Given the description of an element on the screen output the (x, y) to click on. 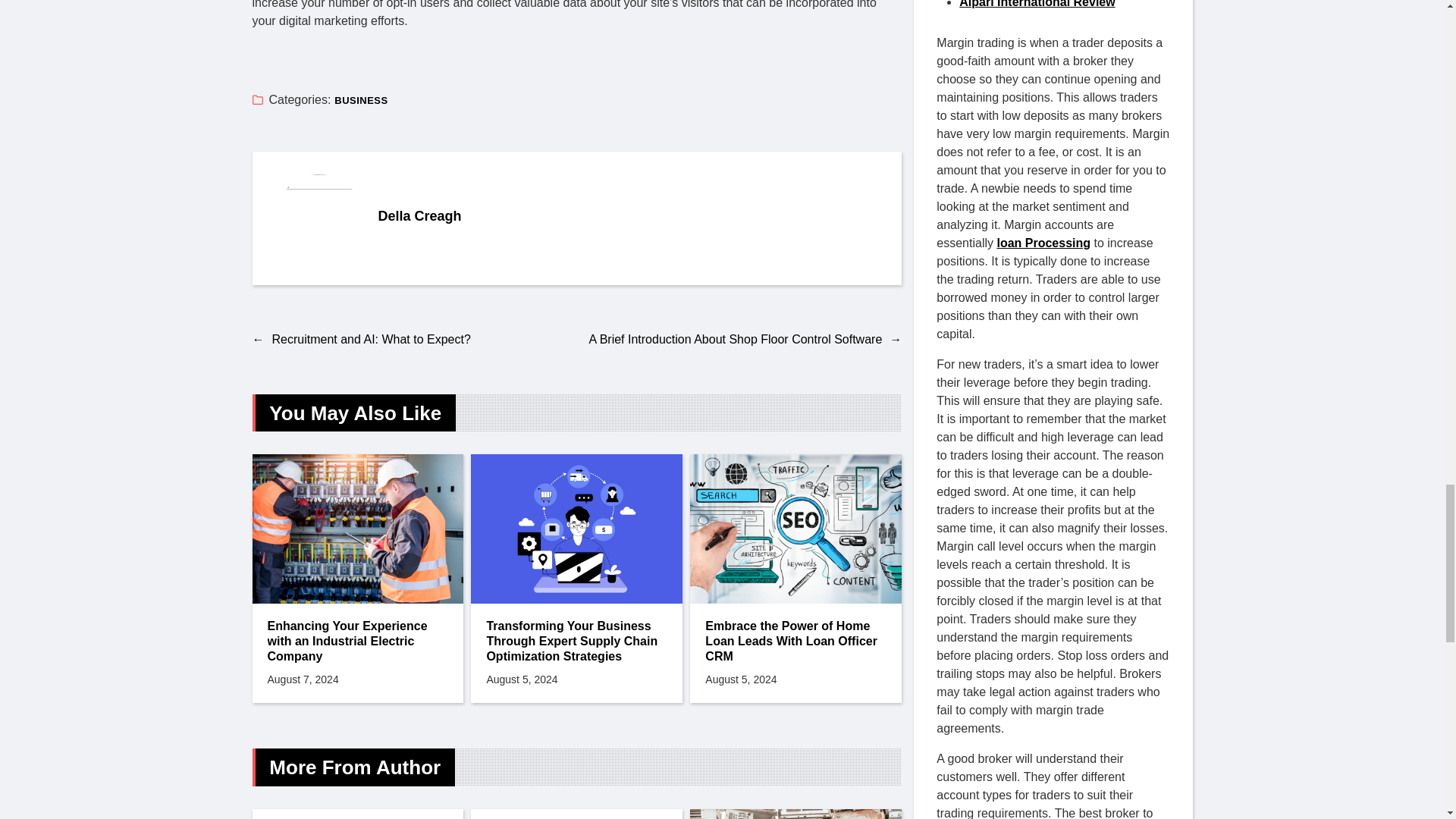
Embrace the Power of Home Loan Leads With Loan Officer CRM (795, 282)
